Given the description of an element on the screen output the (x, y) to click on. 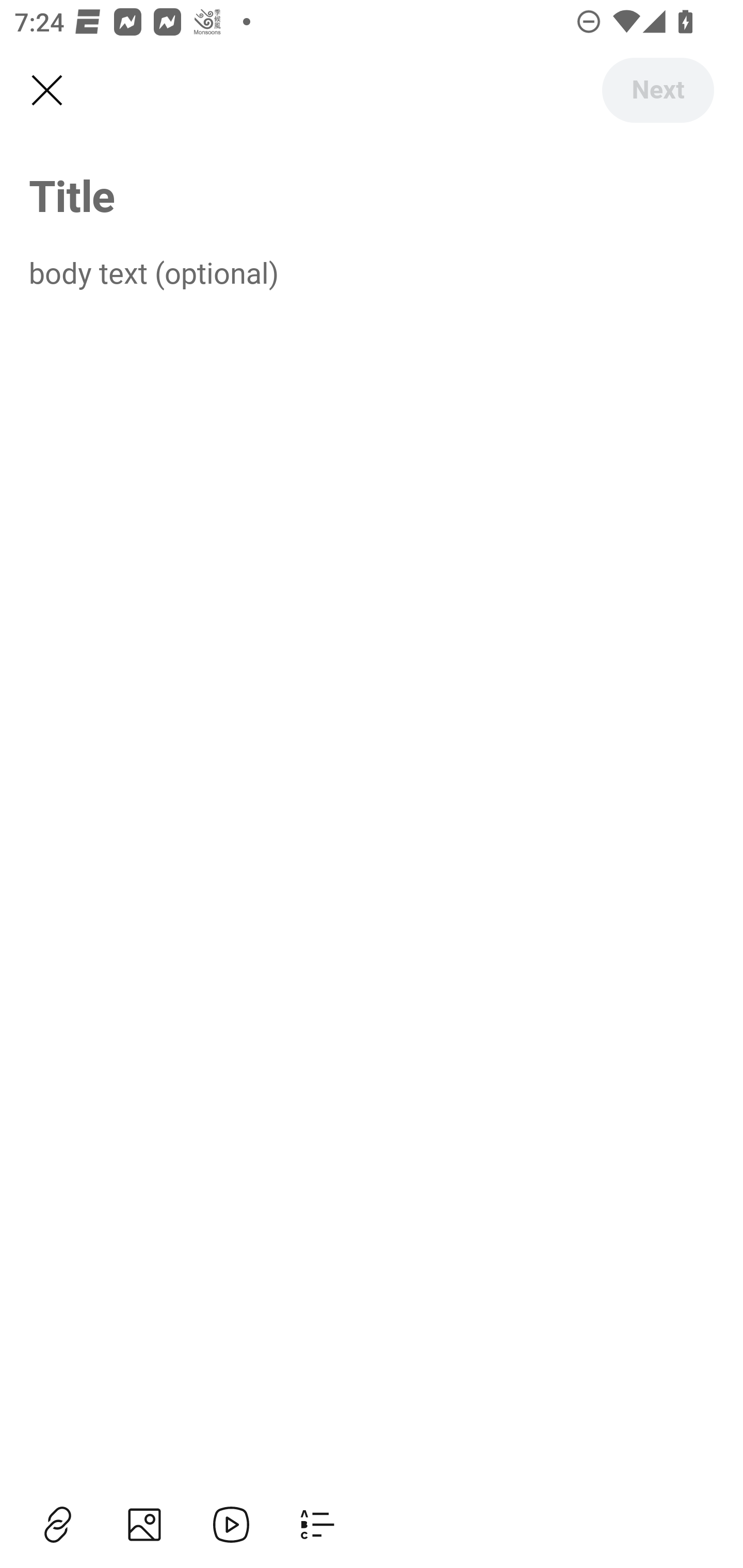
Close (46, 90)
Next (657, 90)
Post title (371, 195)
body text (optional) (371, 271)
